Given the description of an element on the screen output the (x, y) to click on. 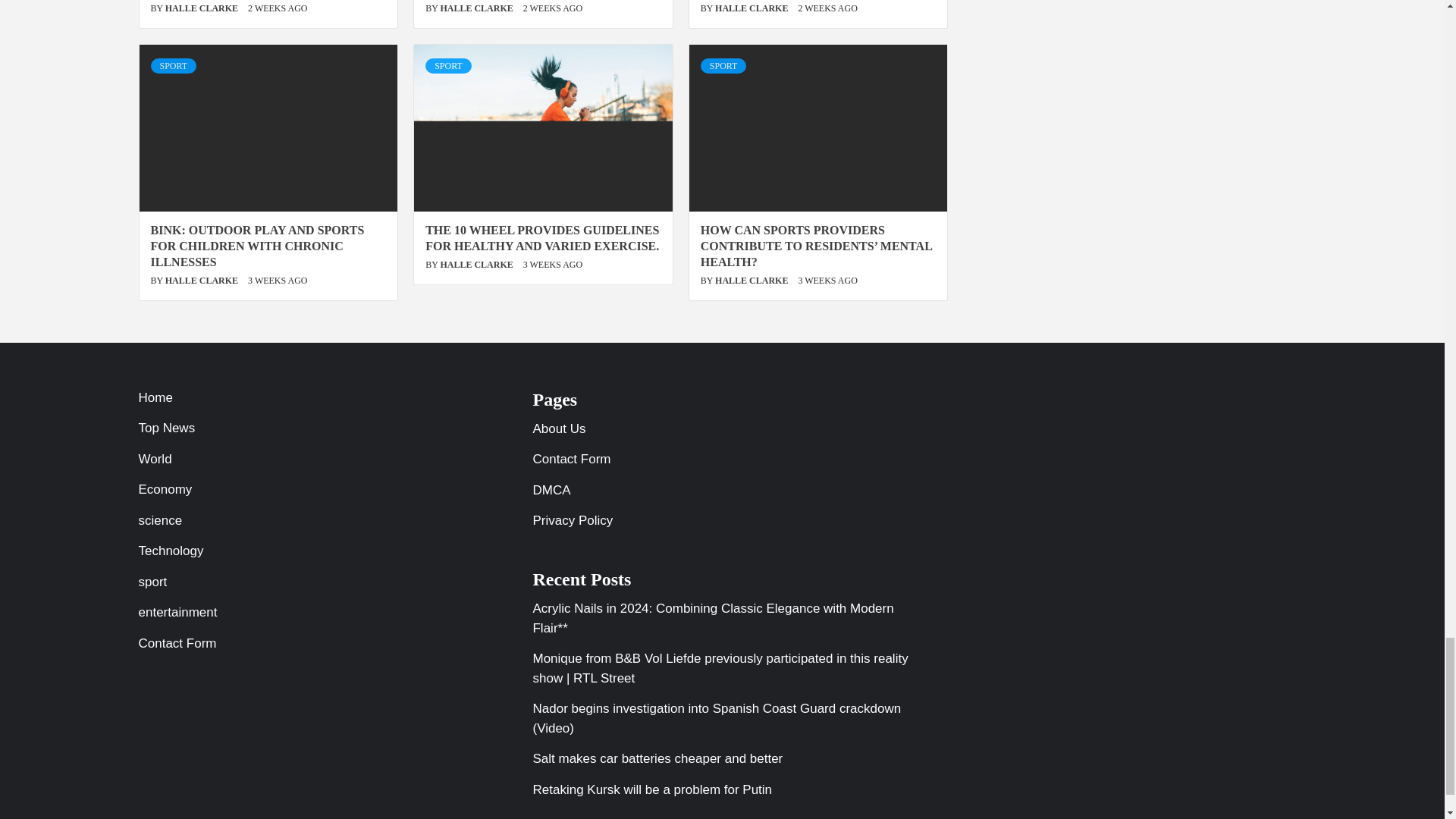
HALLE CLARKE (477, 8)
SPORT (172, 65)
HALLE CLARKE (202, 8)
HALLE CLARKE (202, 280)
HALLE CLARKE (752, 8)
